Given the description of an element on the screen output the (x, y) to click on. 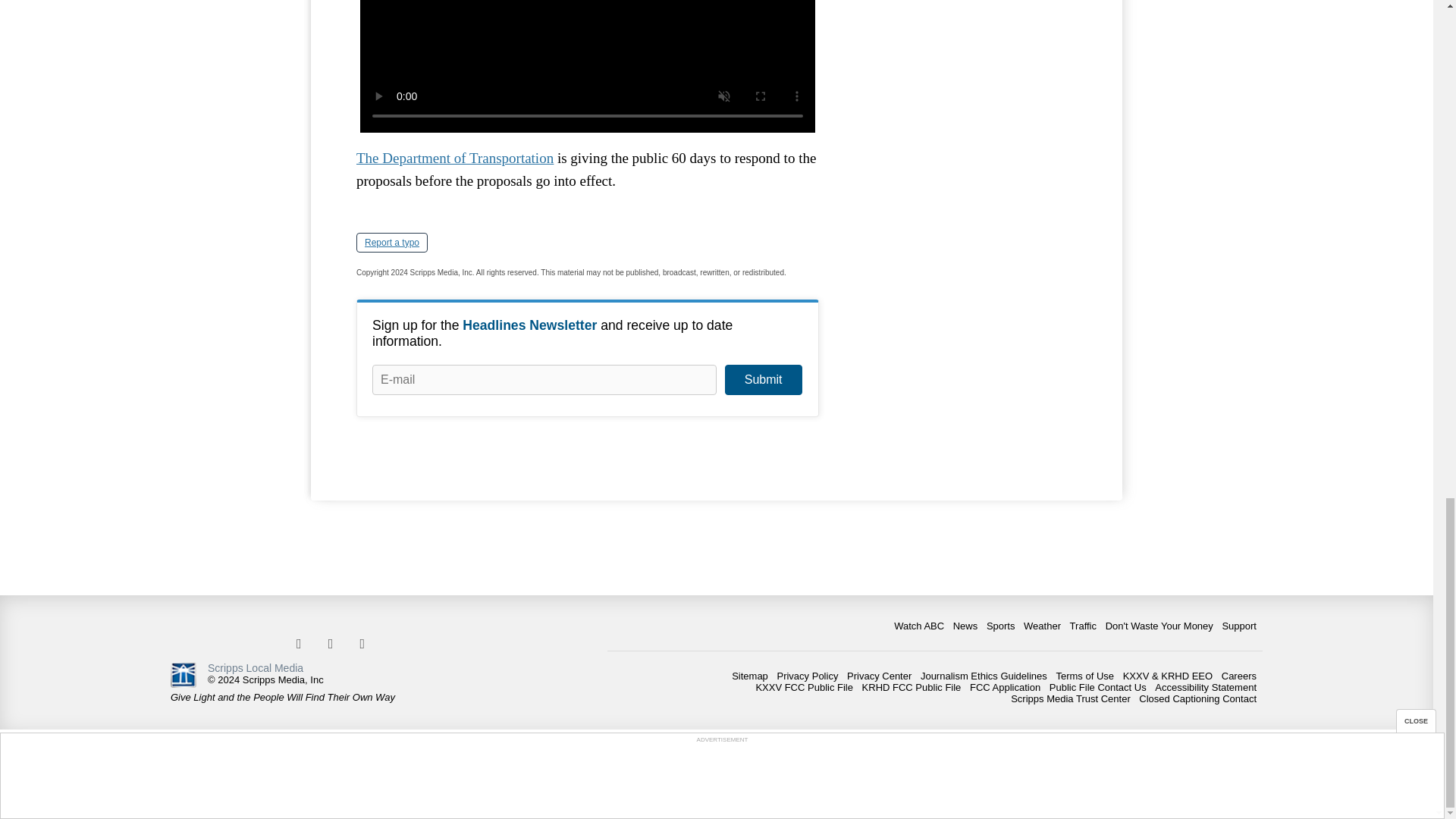
Submit (763, 379)
